Given the description of an element on the screen output the (x, y) to click on. 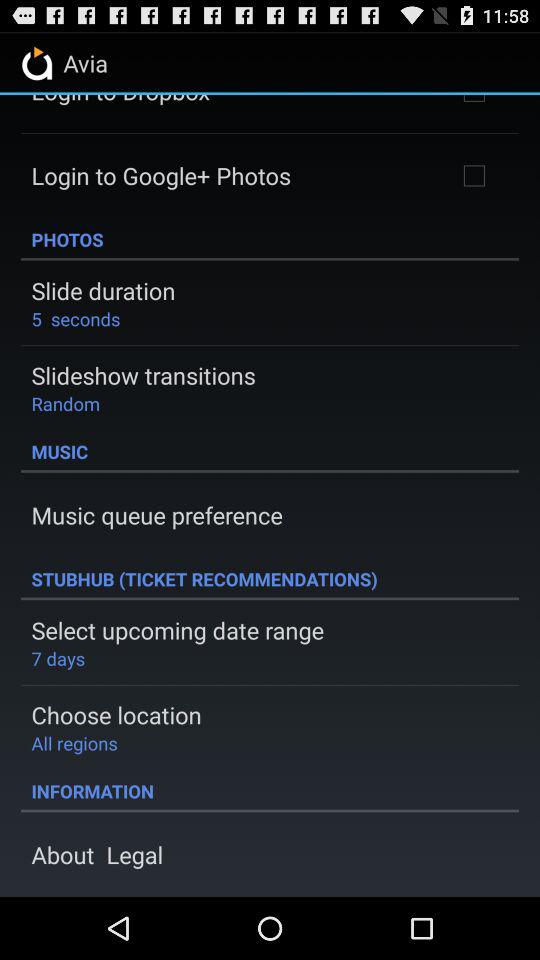
open icon below the information app (97, 854)
